Given the description of an element on the screen output the (x, y) to click on. 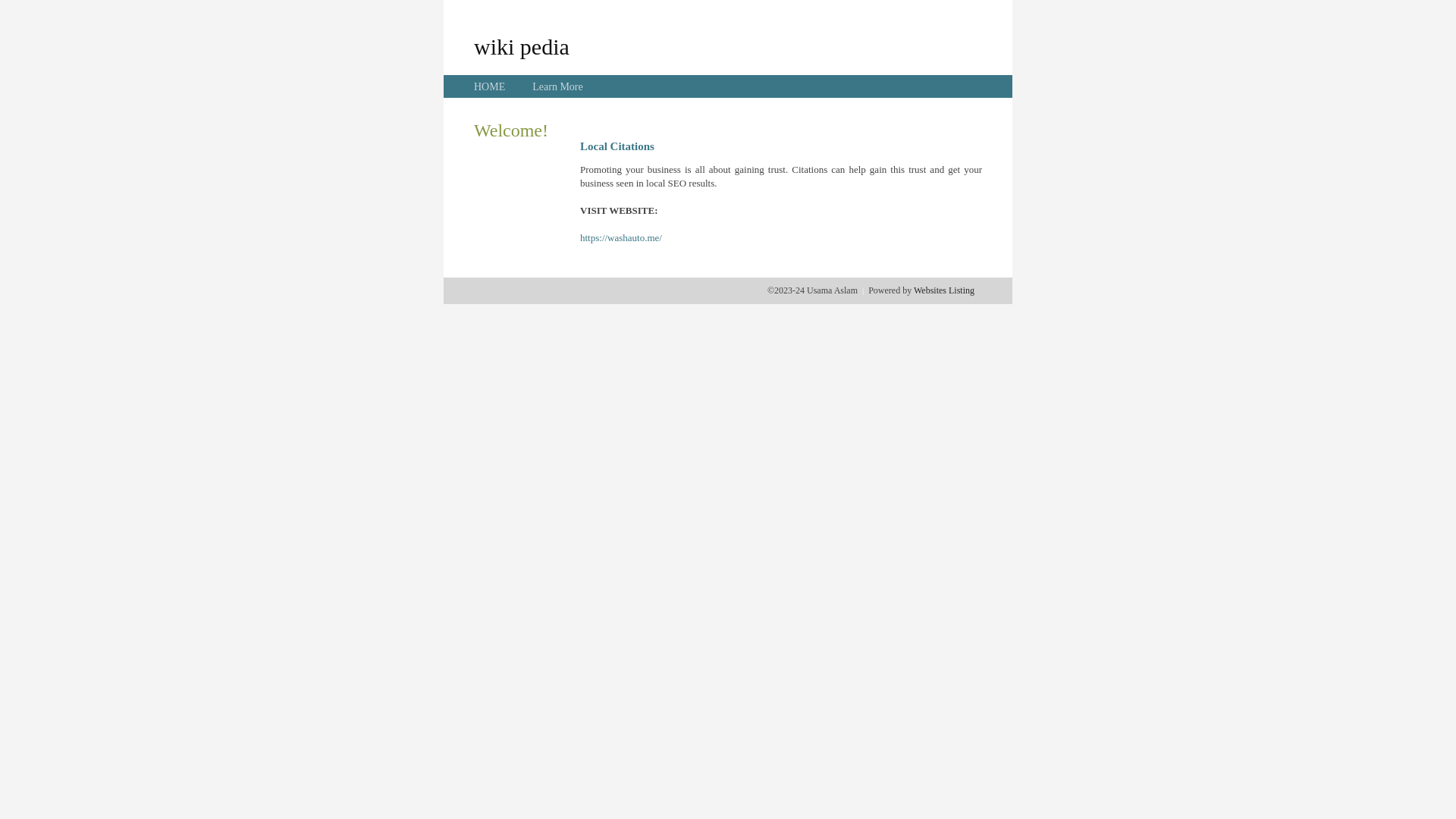
https://washauto.me/ Element type: text (621, 237)
Learn More Element type: text (557, 86)
HOME Element type: text (489, 86)
wiki pedia Element type: text (521, 46)
Websites Listing Element type: text (943, 290)
